Given the description of an element on the screen output the (x, y) to click on. 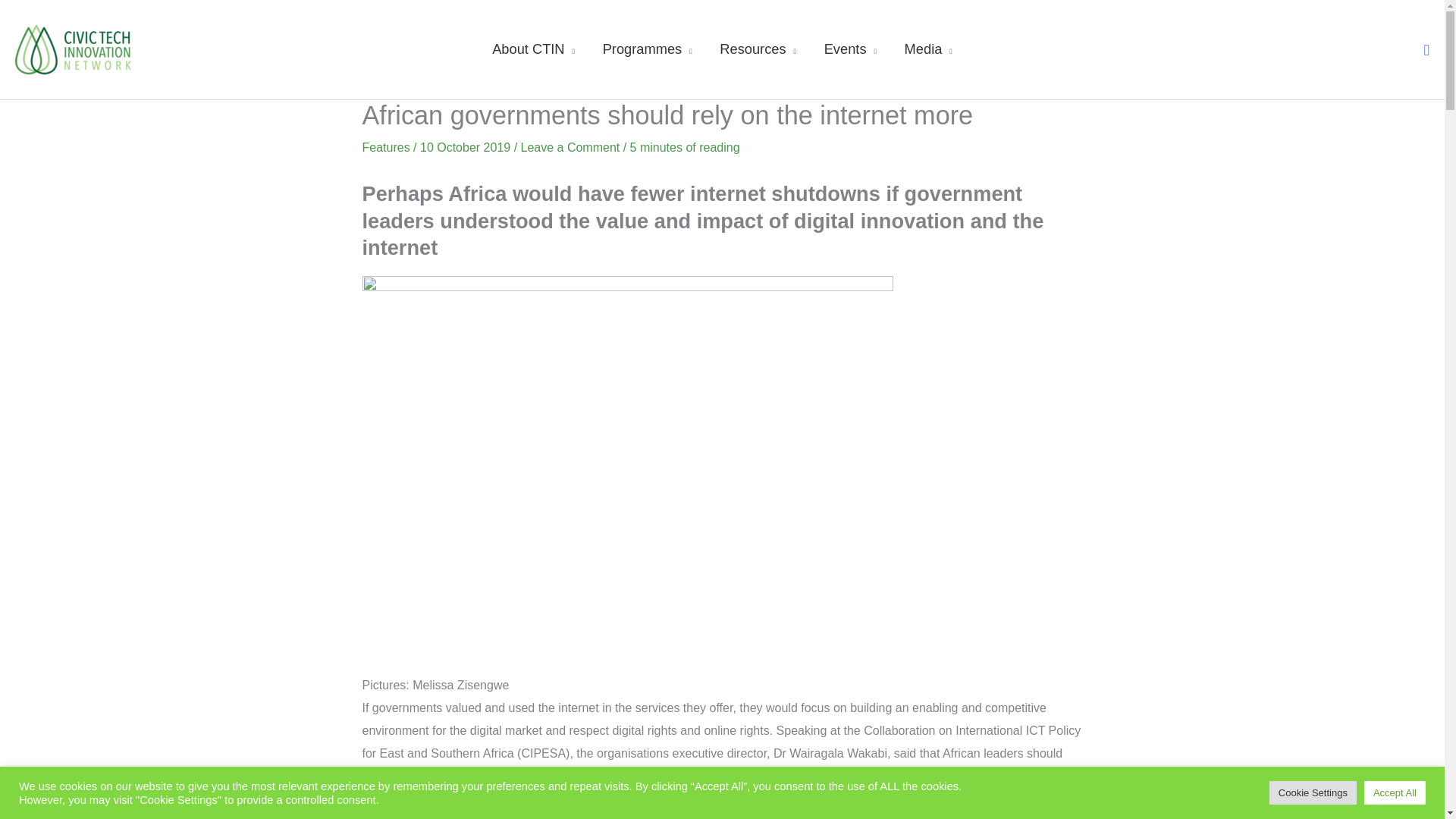
Media (927, 49)
About CTIN (534, 49)
Resources (757, 49)
Events (849, 49)
Programmes (647, 49)
